Given the description of an element on the screen output the (x, y) to click on. 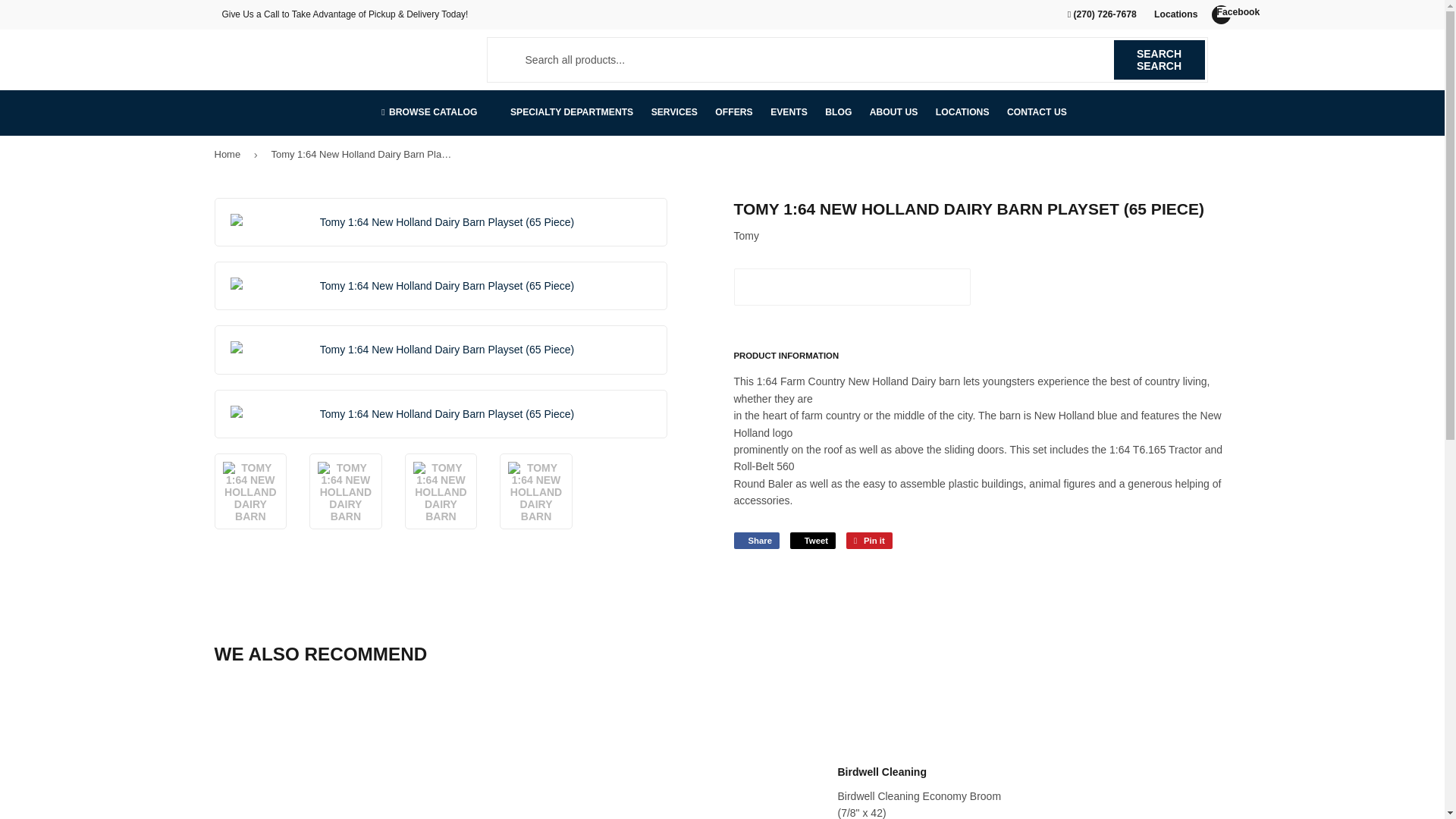
Tweet on Twitter (812, 540)
Open Product Zoom (441, 221)
Facebook (1220, 14)
Share on Facebook (755, 540)
 Locations (1174, 14)
Pin on Pinterest (868, 540)
SEARCH SEARCH (1158, 59)
Open Product Zoom (441, 413)
Southern States Russellville Coop on Facebook (1220, 14)
Open Product Zoom (441, 285)
